Given the description of an element on the screen output the (x, y) to click on. 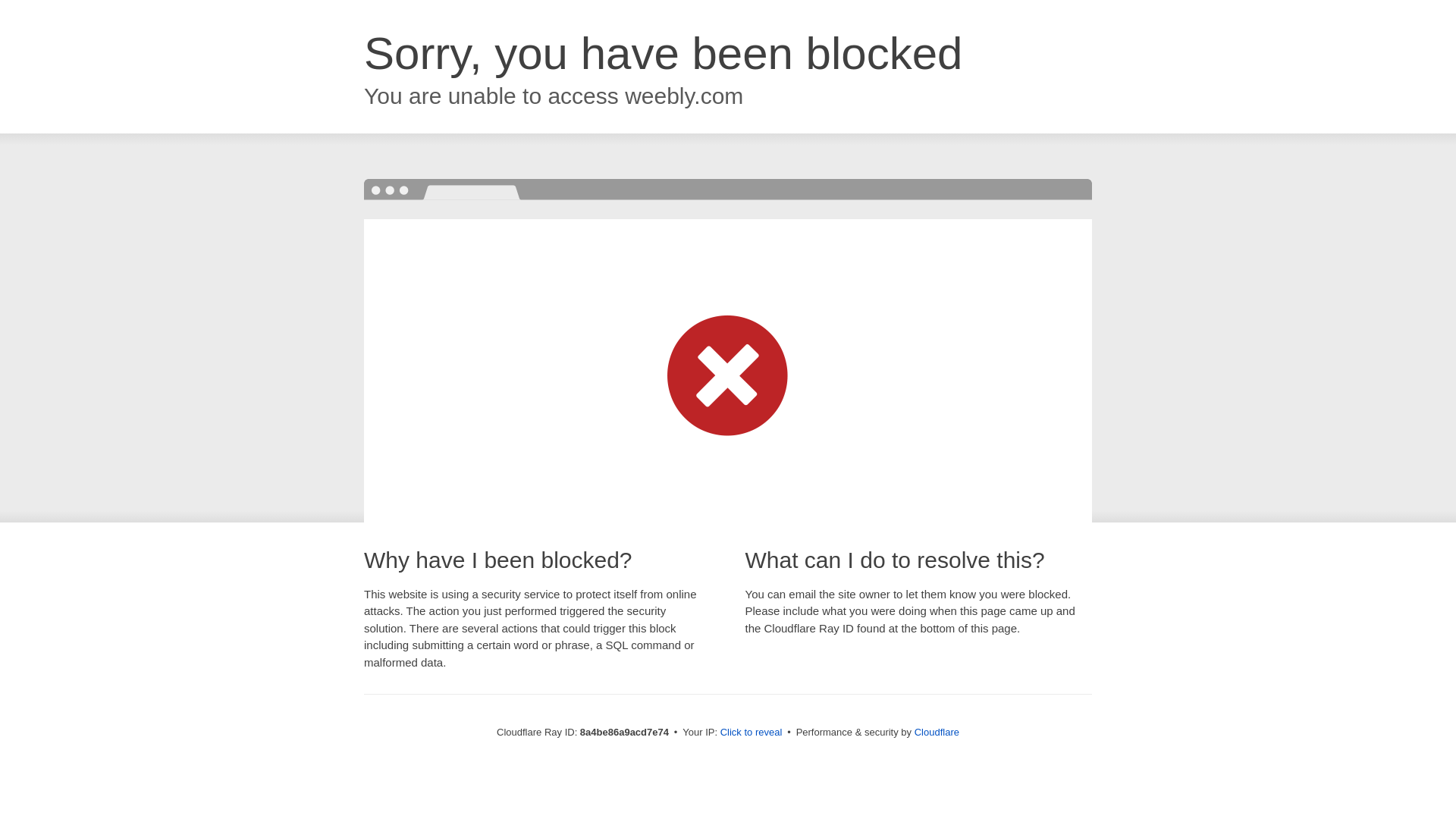
Cloudflare (936, 731)
Click to reveal (751, 732)
